Given the description of an element on the screen output the (x, y) to click on. 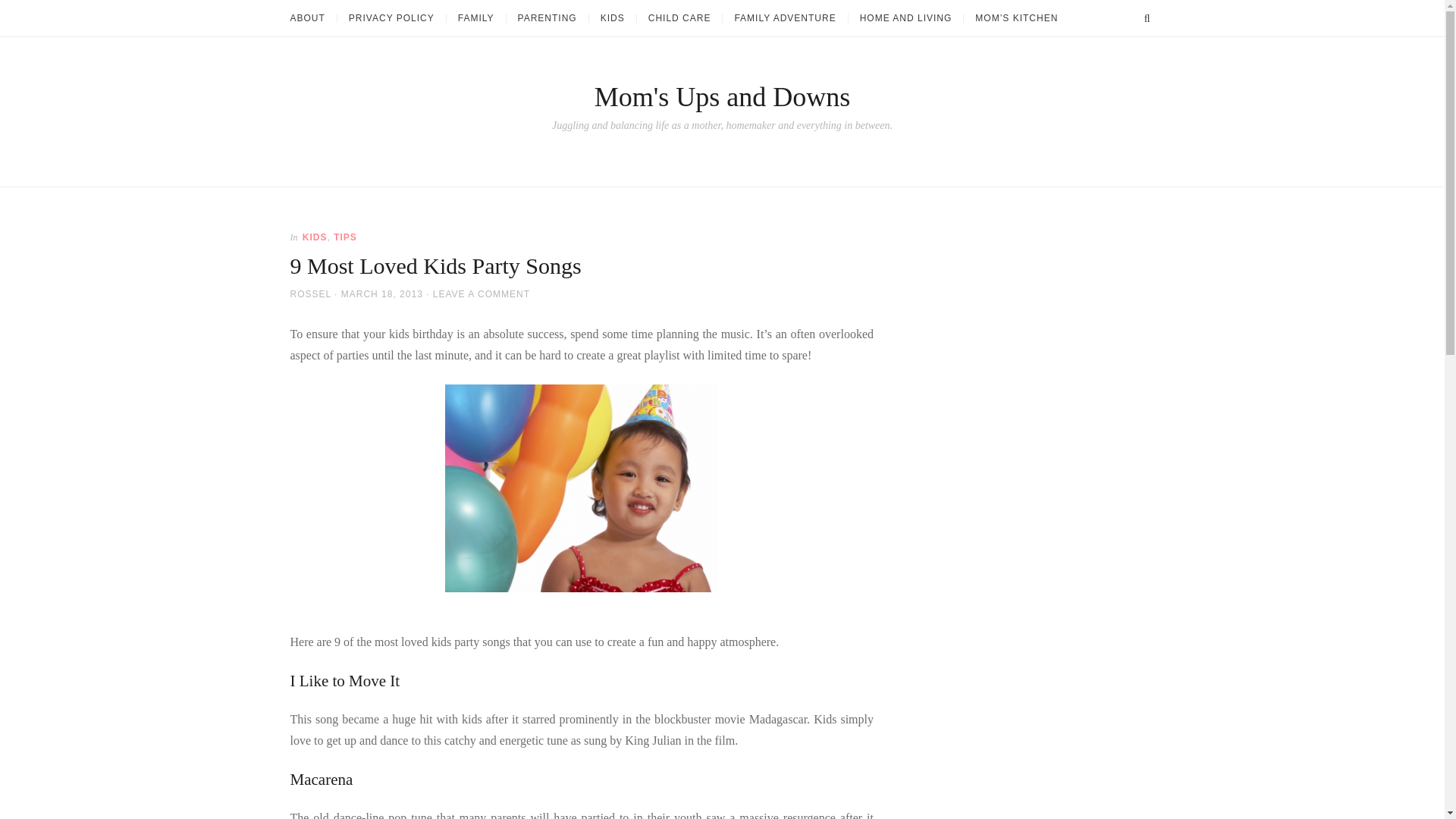
PRIVACY POLICY (390, 17)
KIDS (314, 236)
LEAVE A COMMENT (480, 294)
KIDS (612, 17)
MARCH 18, 2013 (381, 294)
Mom's Ups and Downs (722, 96)
TIPS (344, 236)
FAMILY ADVENTURE (784, 17)
ROSSEL (309, 294)
HOME AND LIVING (905, 17)
